Given the description of an element on the screen output the (x, y) to click on. 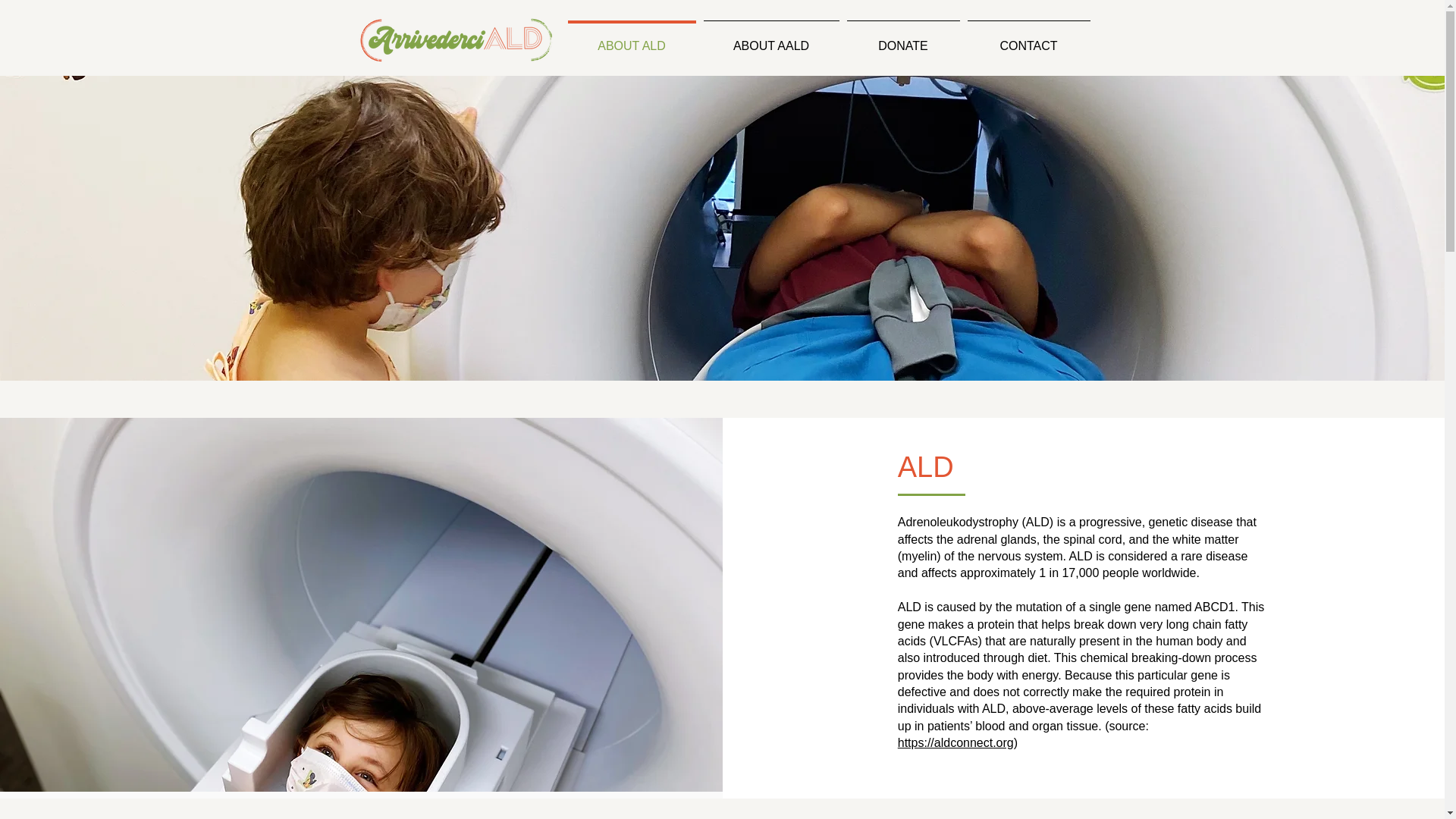
CONTACT (1027, 39)
ABOUT AALD (770, 39)
DONATE (903, 39)
ABOUT ALD (632, 39)
